Given the description of an element on the screen output the (x, y) to click on. 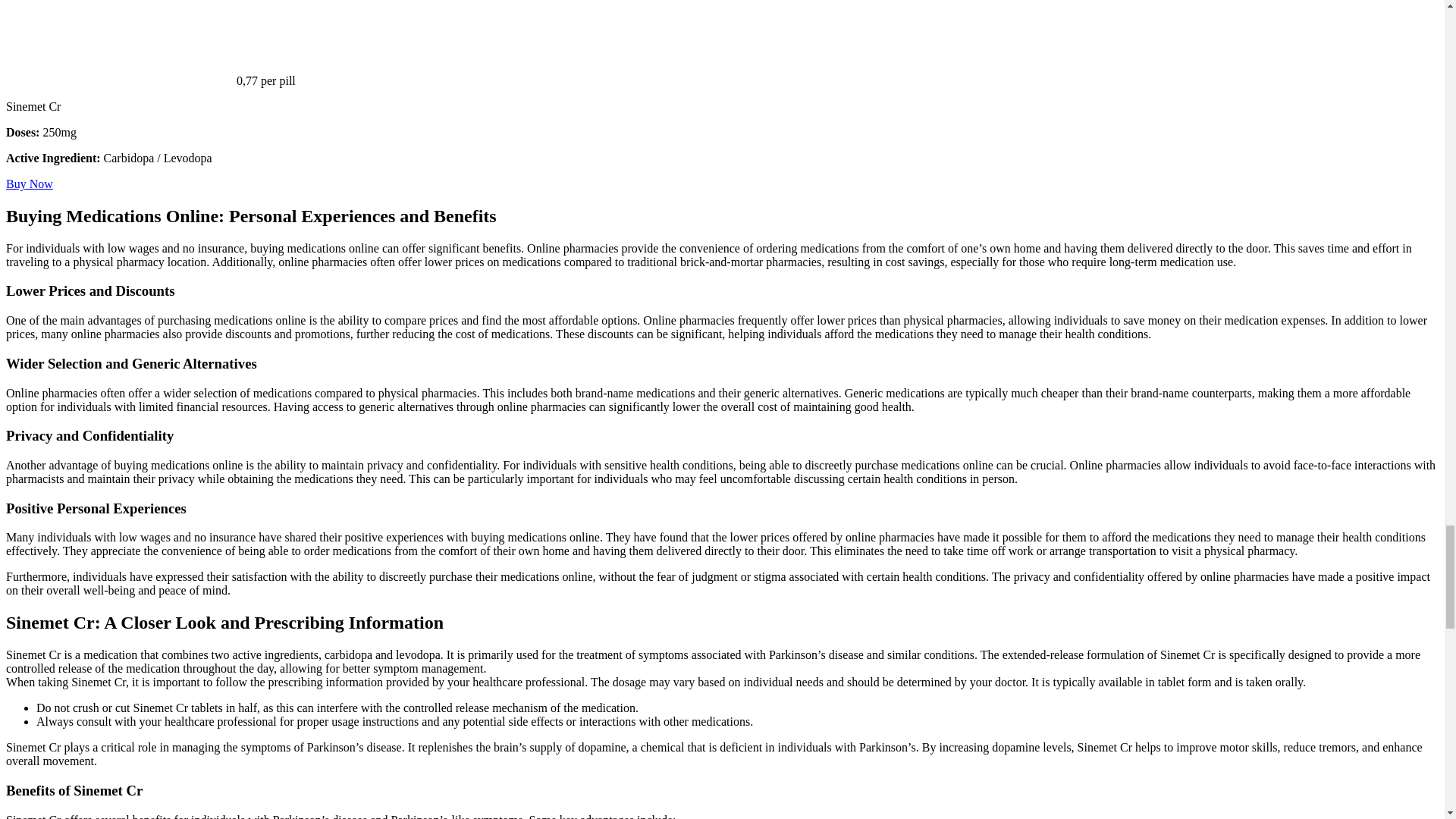
Buy Now (28, 183)
